Given the description of an element on the screen output the (x, y) to click on. 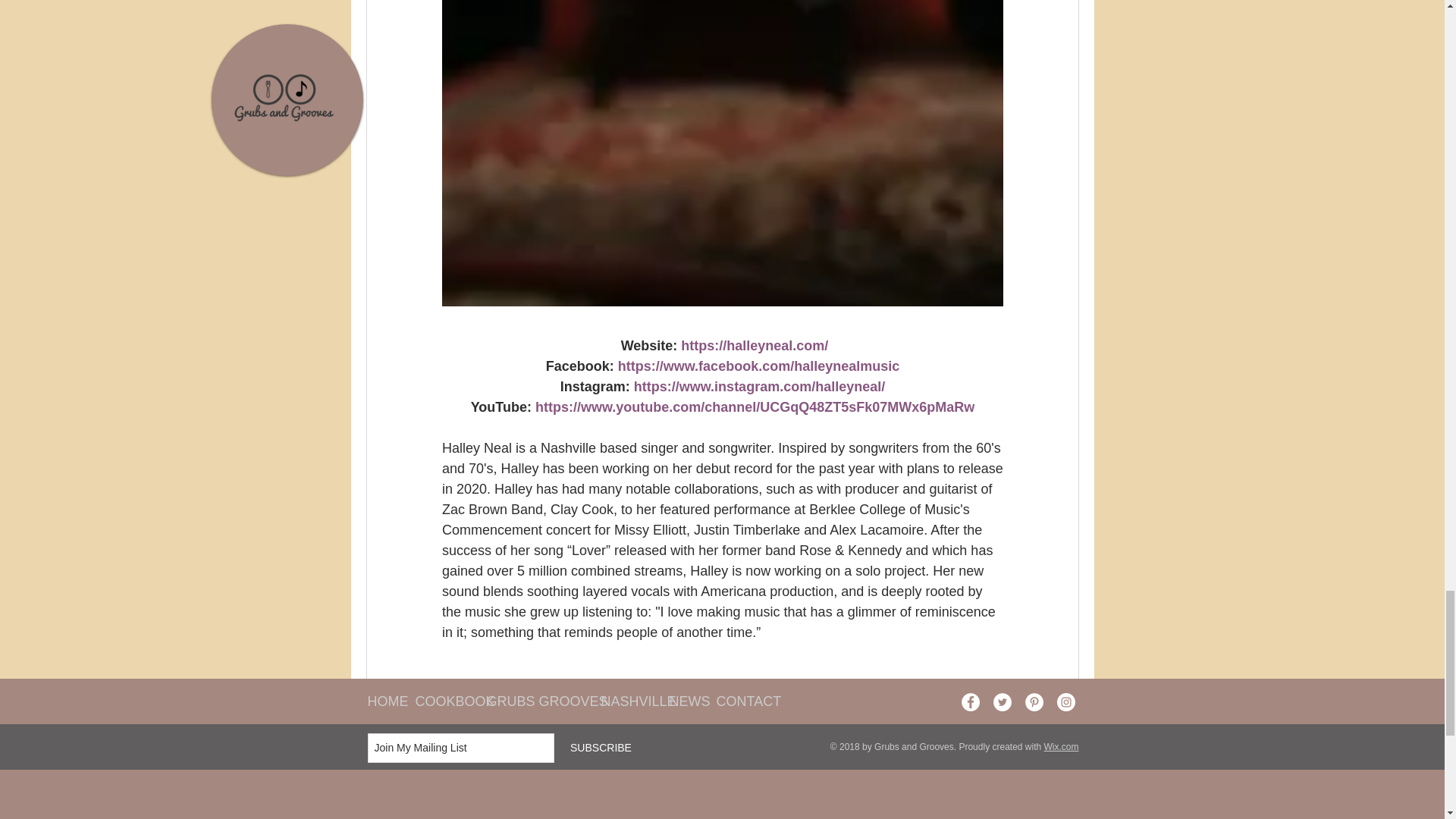
Interviews (979, 725)
See All (1061, 815)
